Given the description of an element on the screen output the (x, y) to click on. 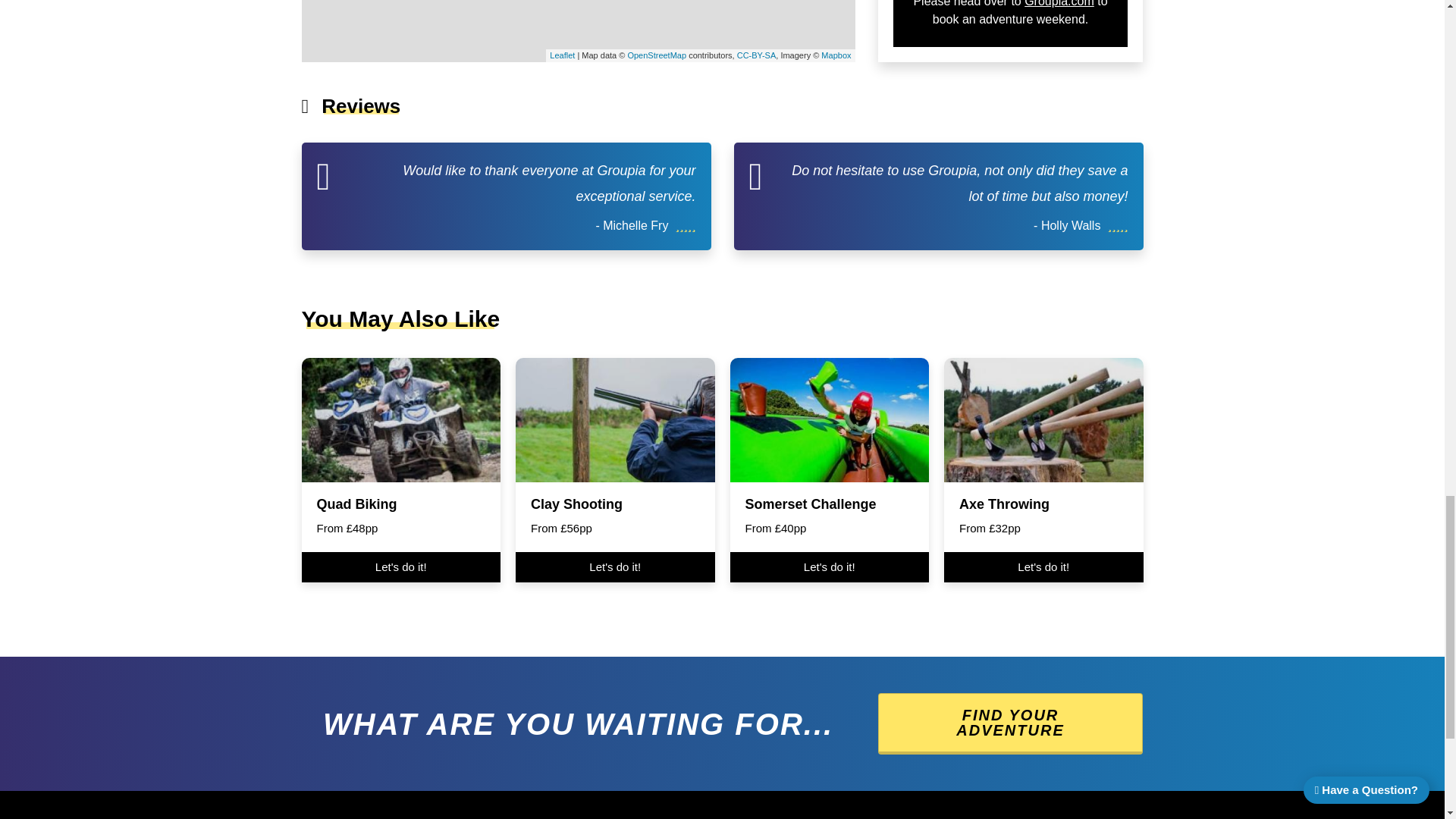
Let's do it! (828, 567)
A JS library for interactive maps (562, 54)
Leaflet (562, 54)
Somerset Challenge (810, 503)
Clay Shooting (577, 503)
OpenStreetMap (656, 54)
Axe Throwing (1004, 503)
Let's do it! (1042, 567)
CC-BY-SA (756, 54)
Let's do it! (400, 567)
